Given the description of an element on the screen output the (x, y) to click on. 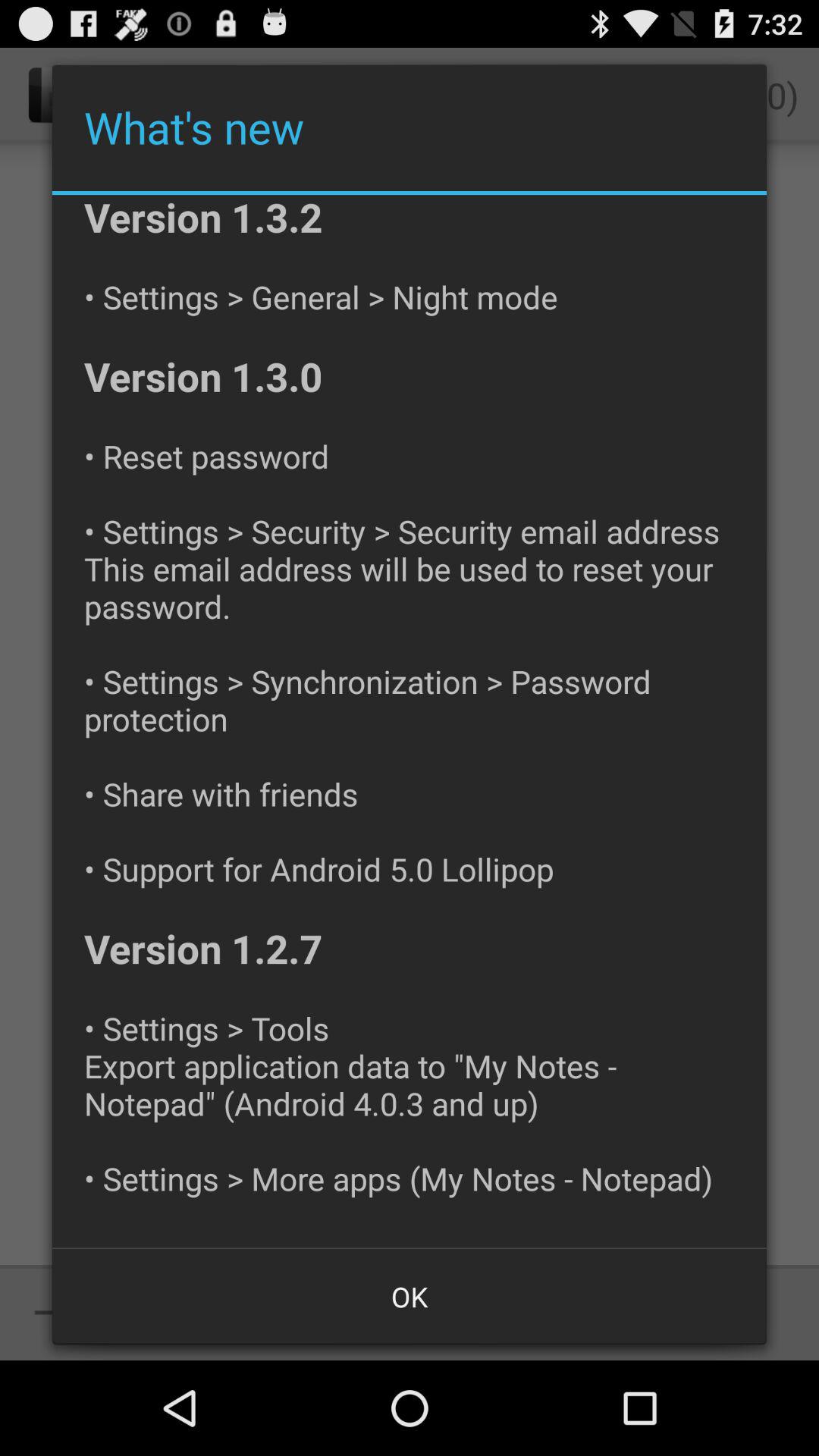
select app below version 1 3 (409, 1296)
